Given the description of an element on the screen output the (x, y) to click on. 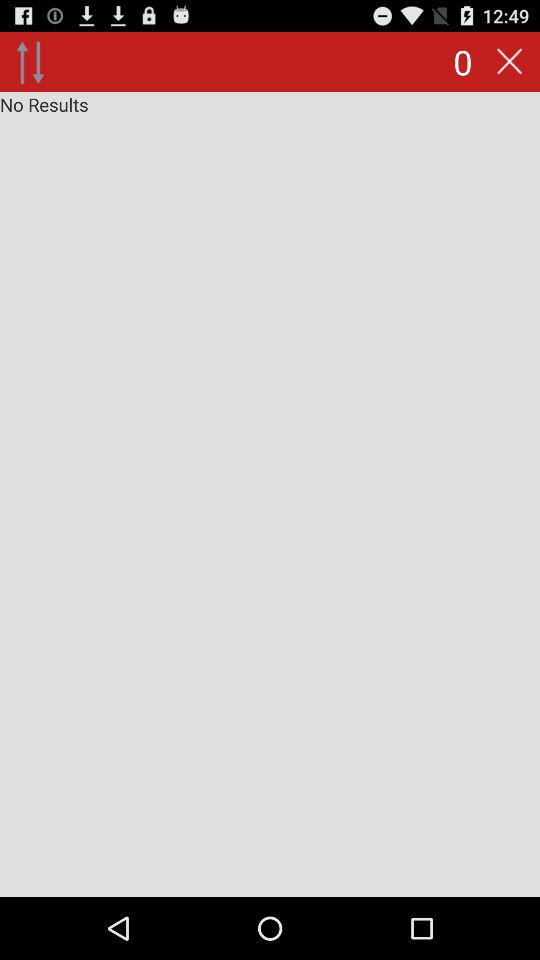
select the app next to 0 item (509, 61)
